Given the description of an element on the screen output the (x, y) to click on. 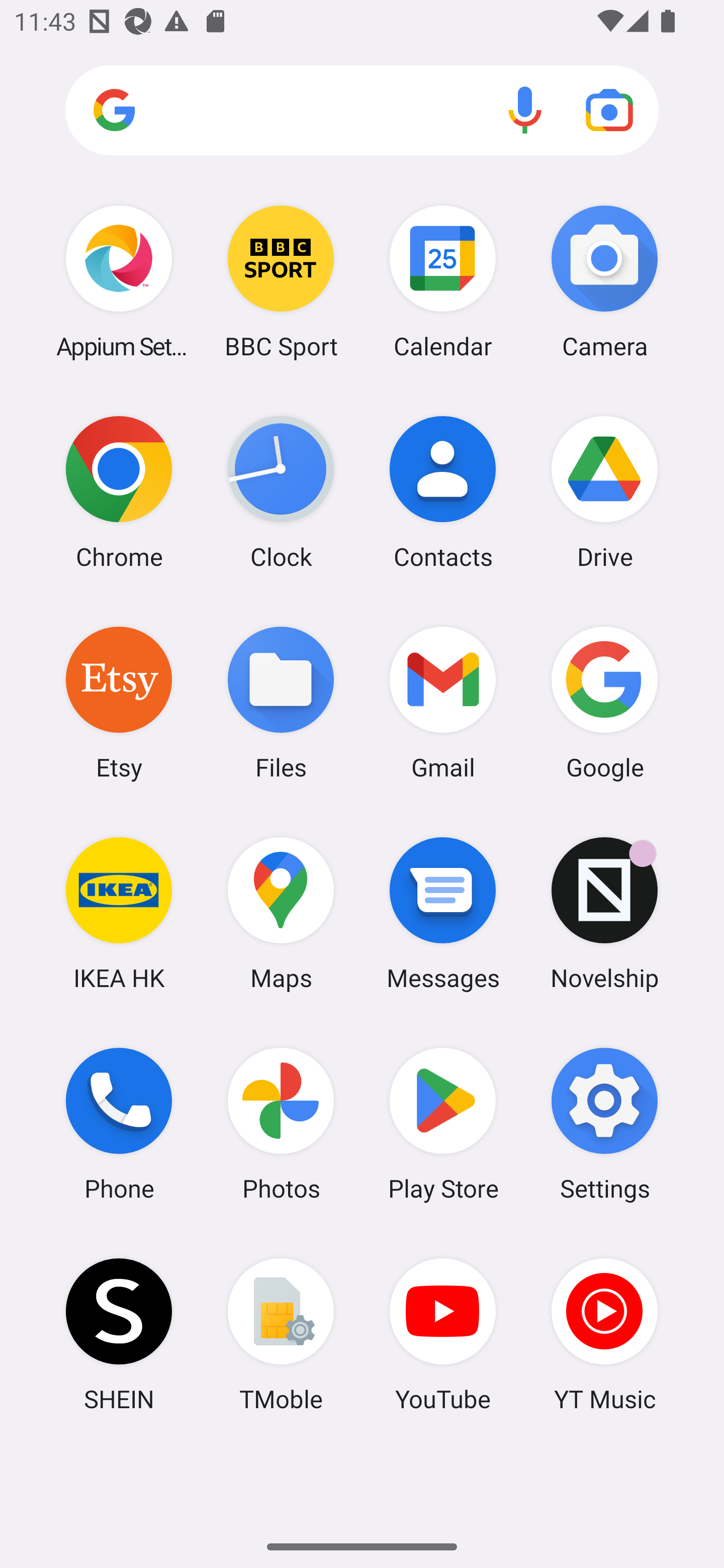
Search apps, web and more (361, 110)
Voice search (524, 109)
Google Lens (608, 109)
Appium Settings (118, 281)
BBC Sport (280, 281)
Calendar (443, 281)
Camera (604, 281)
Chrome (118, 492)
Clock (280, 492)
Contacts (443, 492)
Drive (604, 492)
Etsy (118, 702)
Files (280, 702)
Gmail (443, 702)
Google (604, 702)
IKEA HK (118, 913)
Maps (280, 913)
Messages (443, 913)
Novelship Novelship has 6 notifications (604, 913)
Phone (118, 1124)
Photos (280, 1124)
Play Store (443, 1124)
Settings (604, 1124)
SHEIN (118, 1334)
TMoble (280, 1334)
YouTube (443, 1334)
YT Music (604, 1334)
